Given the description of an element on the screen output the (x, y) to click on. 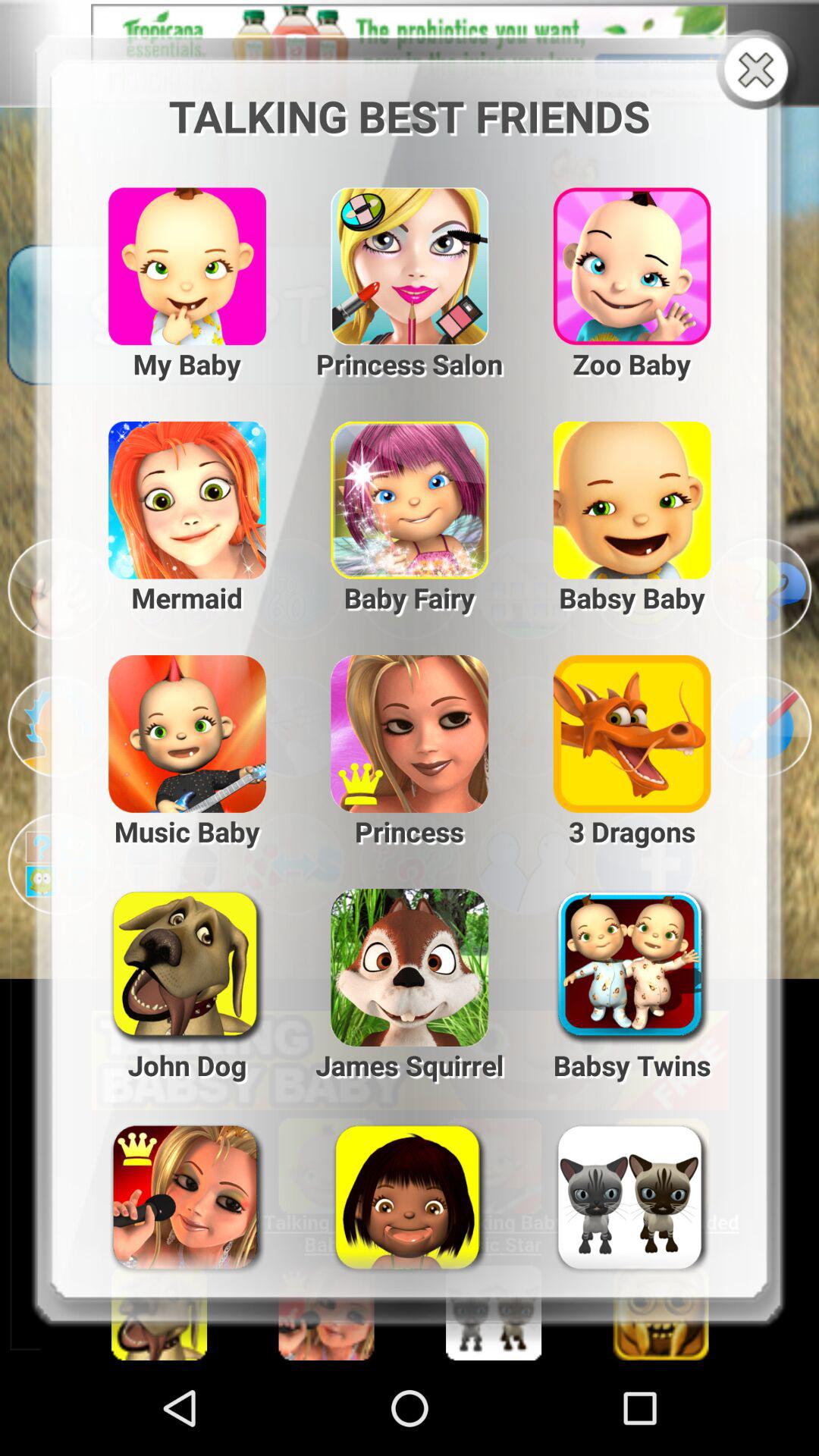
close page (759, 71)
